Given the description of an element on the screen output the (x, y) to click on. 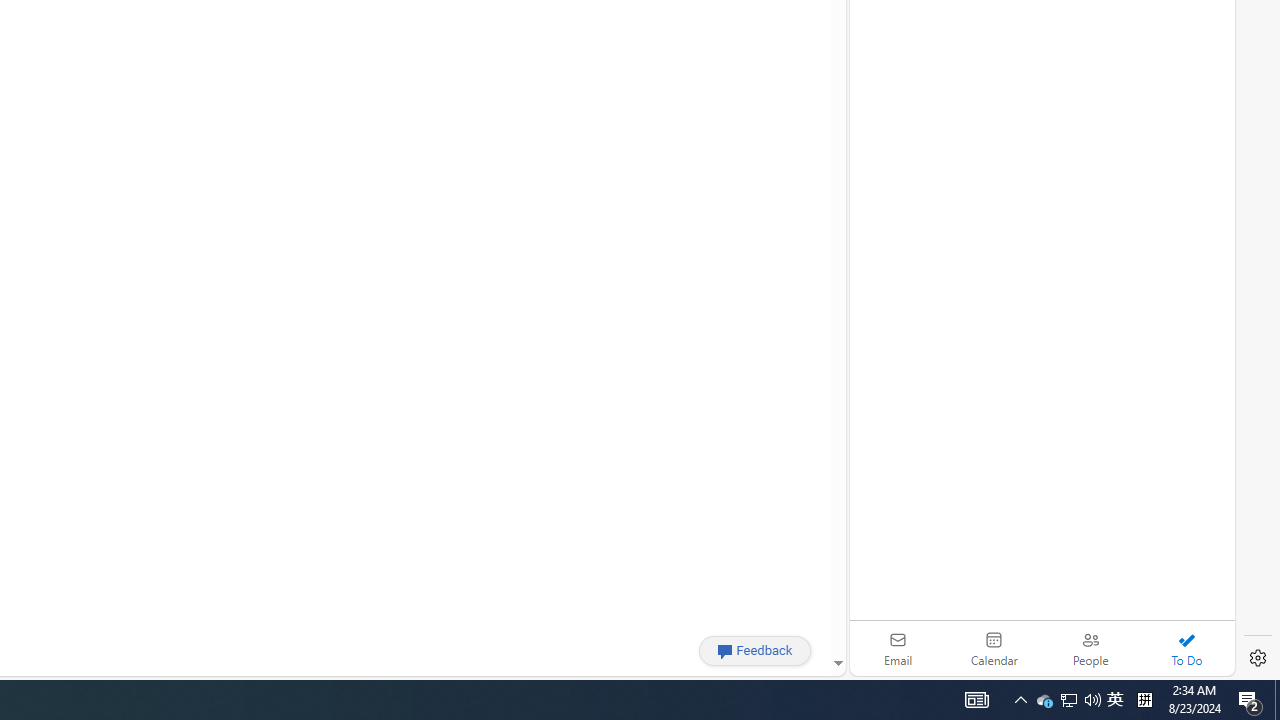
Calendar. Date today is 22 (994, 648)
People (1090, 648)
Email (898, 648)
Feedback (754, 650)
To Do (1186, 648)
